Given the description of an element on the screen output the (x, y) to click on. 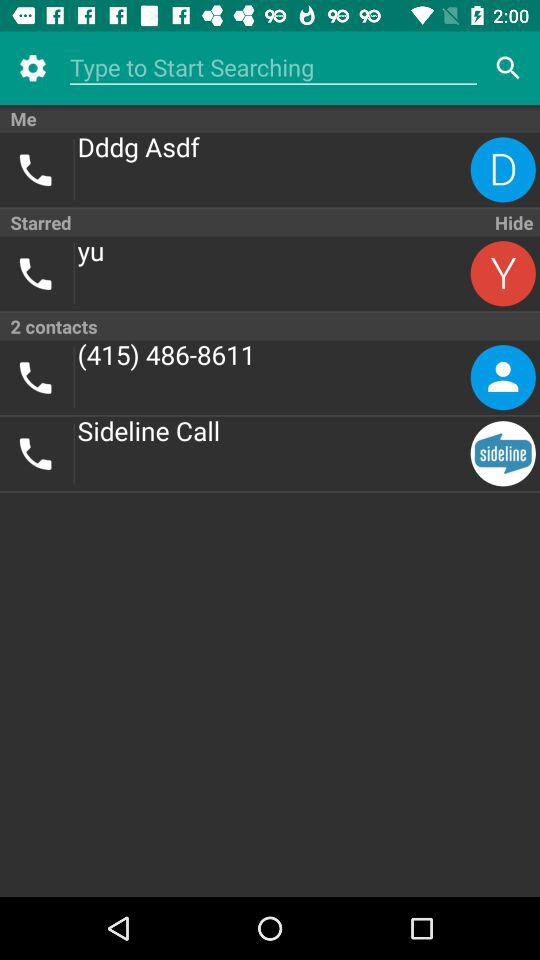
launch the hide item (512, 222)
